Given the description of an element on the screen output the (x, y) to click on. 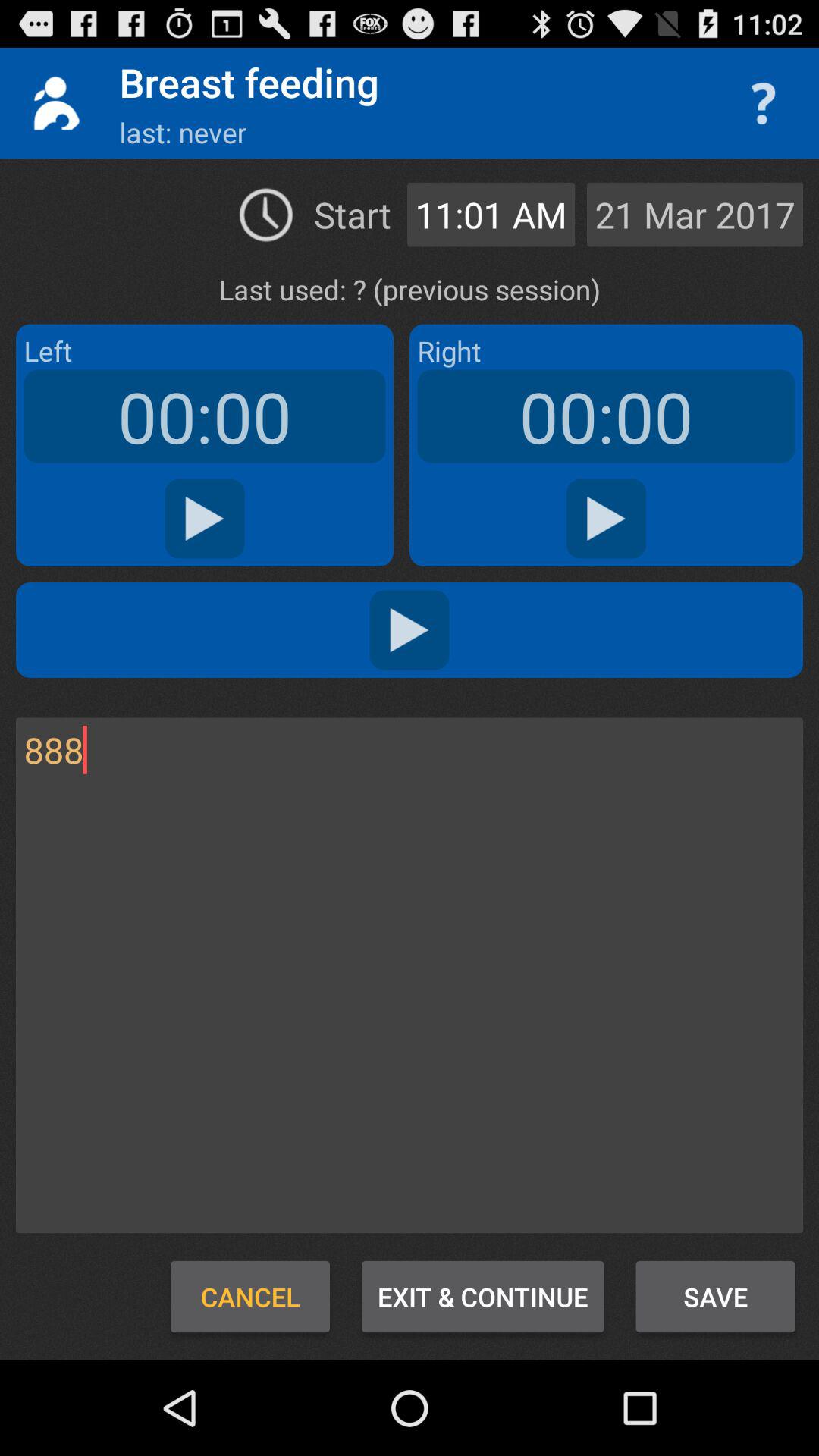
pay right (606, 518)
